Given the description of an element on the screen output the (x, y) to click on. 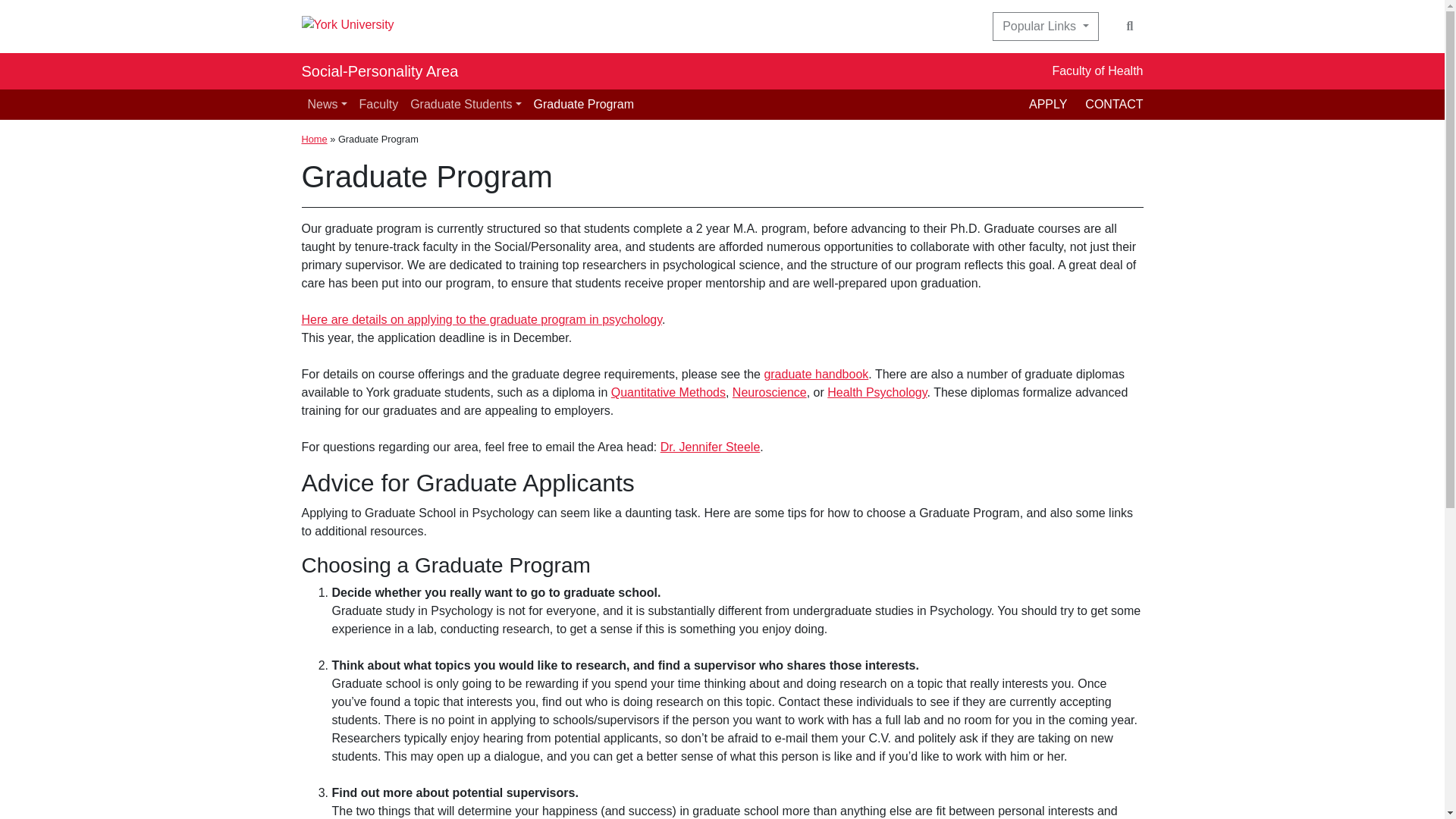
Graduate Students (465, 104)
CONTACT (1113, 103)
Social-Personality Area (379, 71)
APPLY (1056, 103)
News (327, 104)
graduate handbook (814, 373)
Popular Links (1044, 26)
Faculty of Health (1096, 70)
Quantitative Methods (668, 391)
Graduate Program (583, 104)
Home (314, 138)
Search (1129, 26)
Health Psychology (876, 391)
Neuroscience (769, 391)
